Given the description of an element on the screen output the (x, y) to click on. 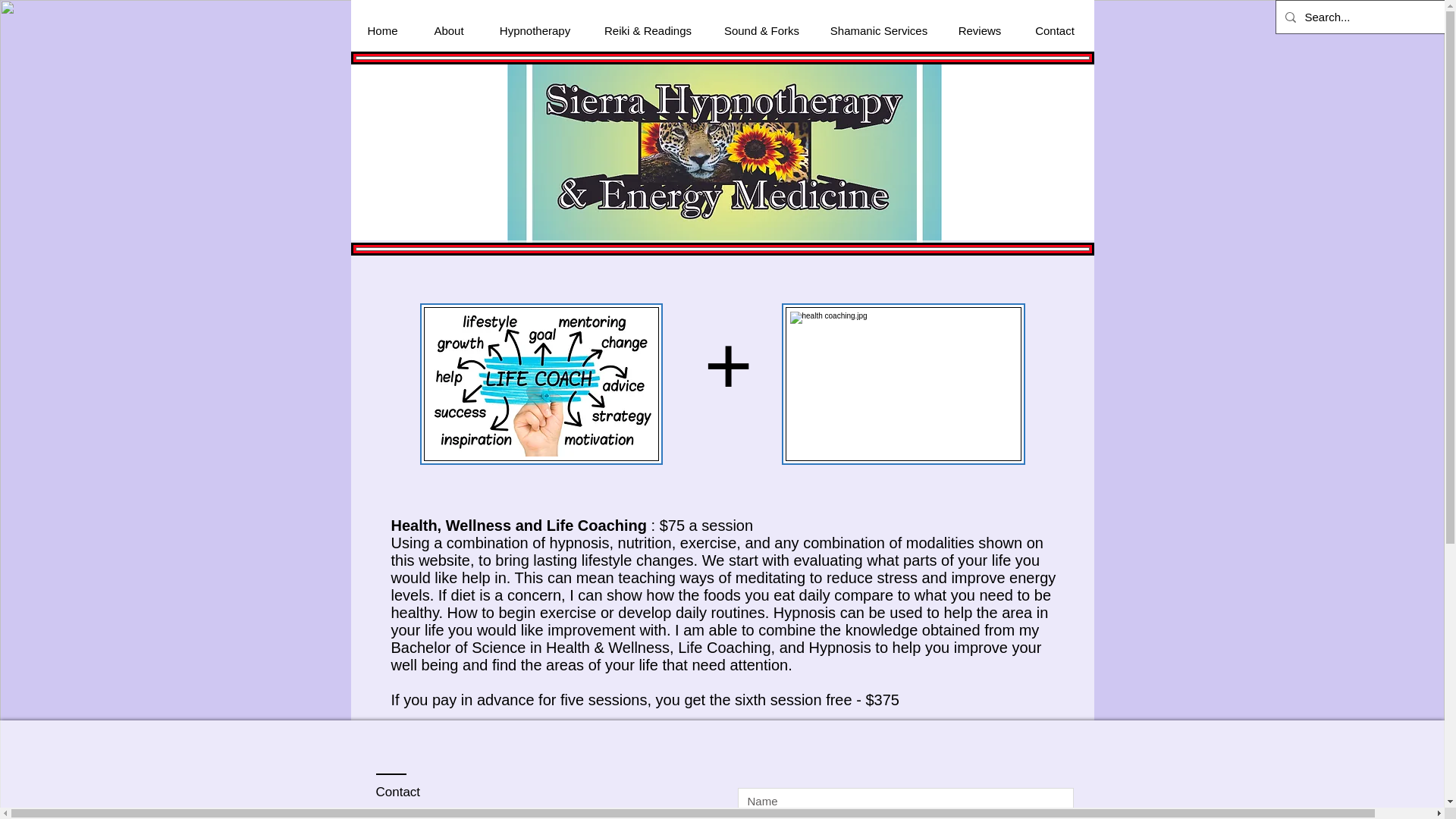
Reviews (979, 30)
Hypnotherapy (534, 30)
Contact (1055, 30)
Home (381, 30)
About (447, 30)
Shamanic Services (878, 30)
